Given the description of an element on the screen output the (x, y) to click on. 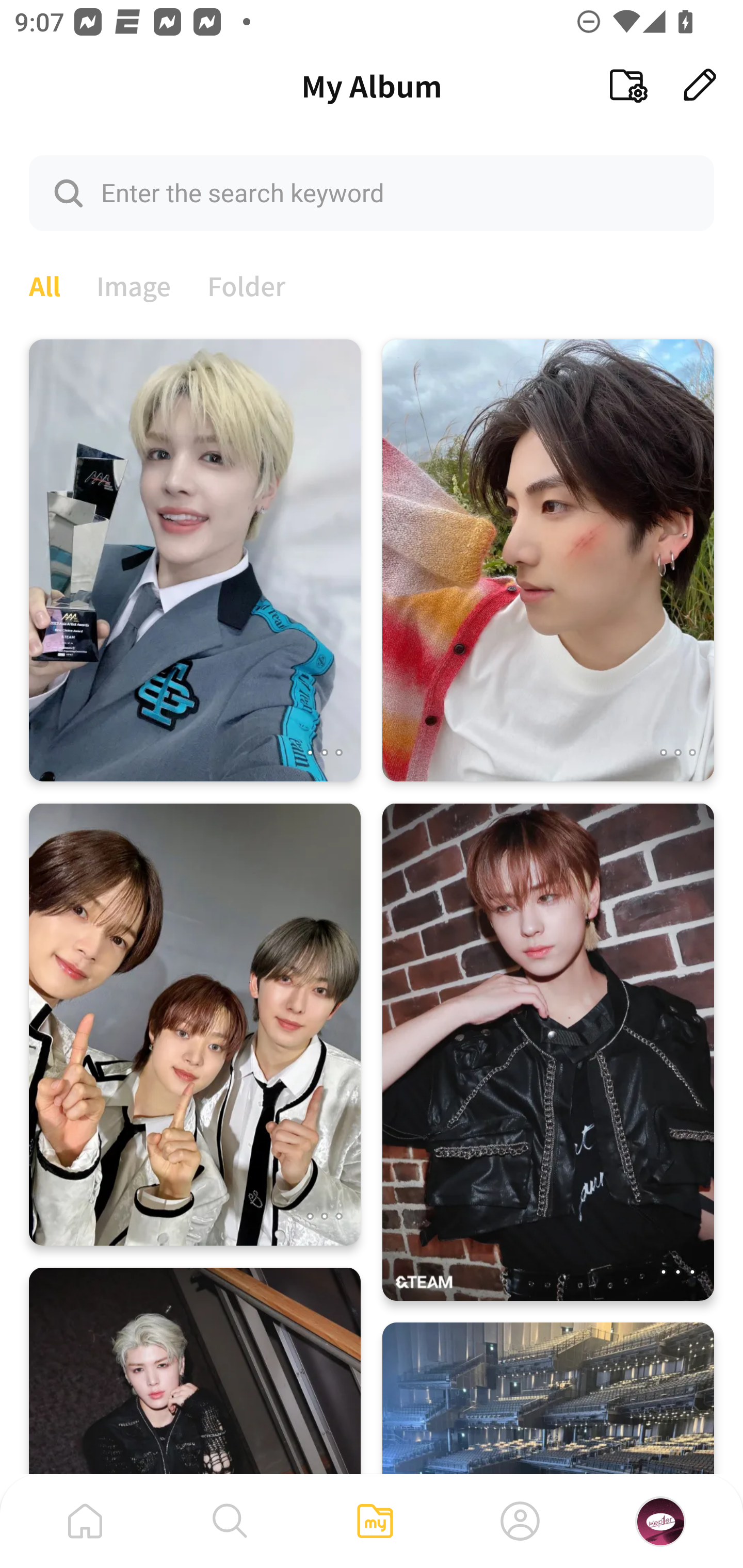
Enter the search keyword (371, 192)
All (44, 284)
Image (133, 284)
Folder (246, 284)
